Given the description of an element on the screen output the (x, y) to click on. 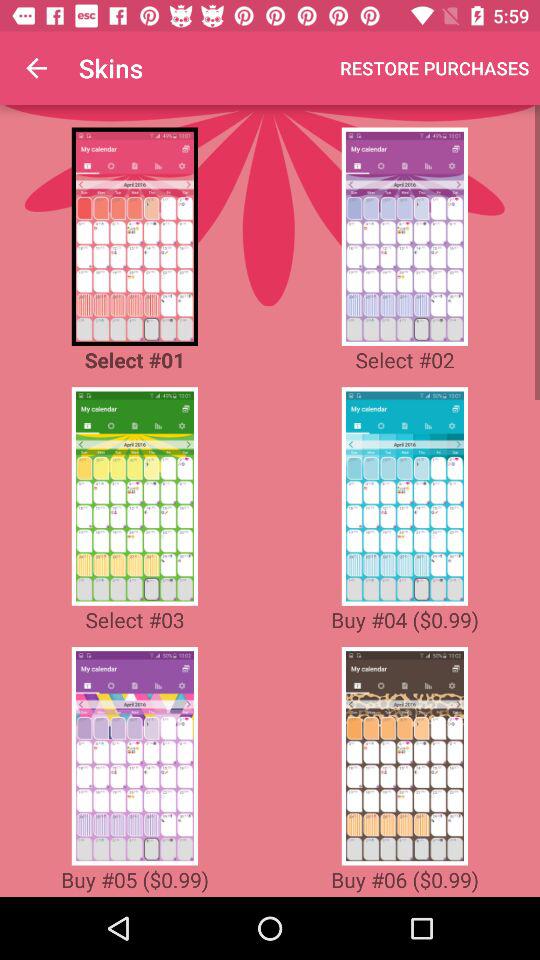
choose that item (404, 756)
